Given the description of an element on the screen output the (x, y) to click on. 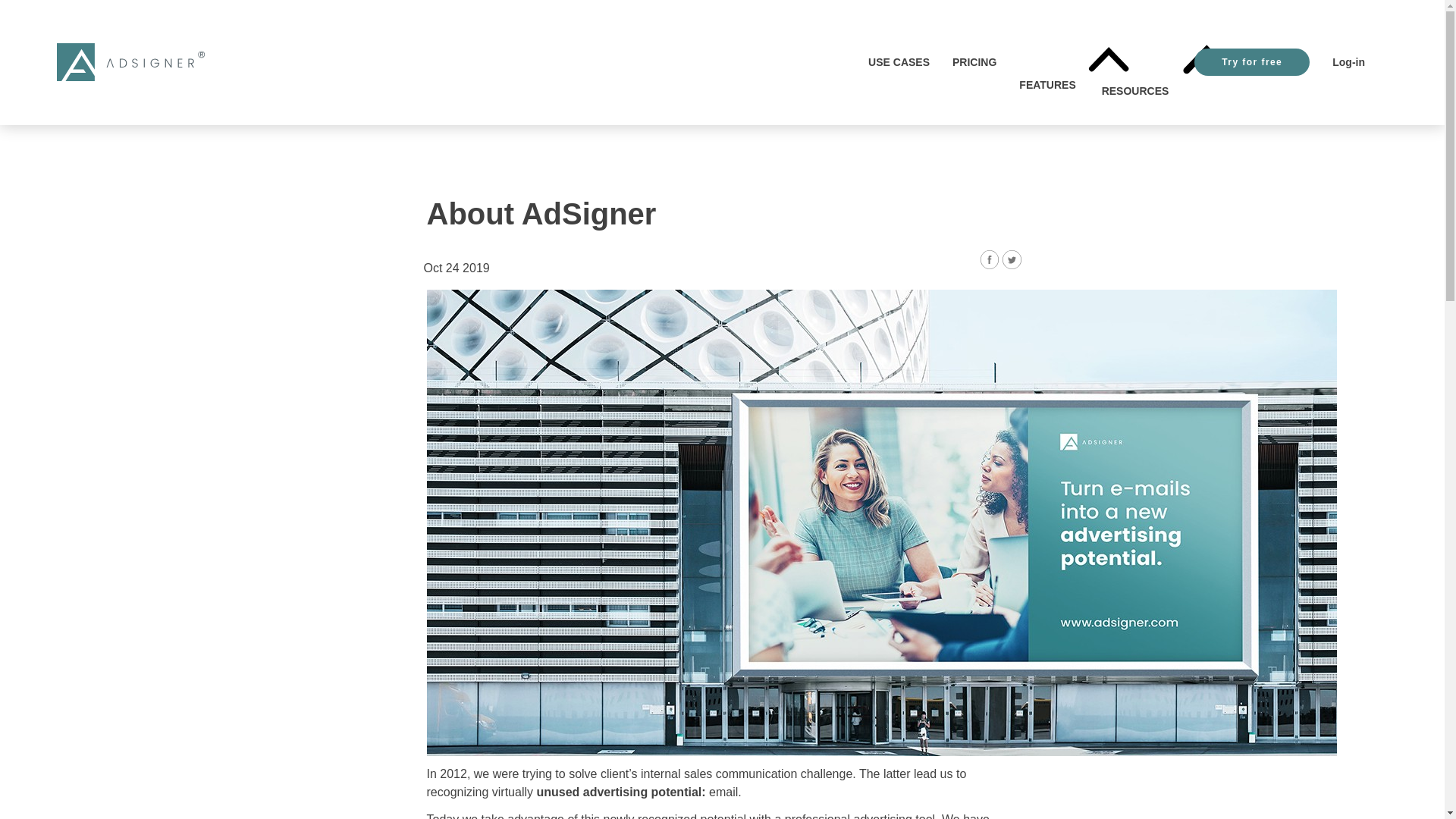
RESOURCES (1137, 62)
PRICING (973, 62)
Try for free (1250, 62)
USE CASES (898, 62)
Log-in (1348, 62)
FEATURES (1048, 62)
